Given the description of an element on the screen output the (x, y) to click on. 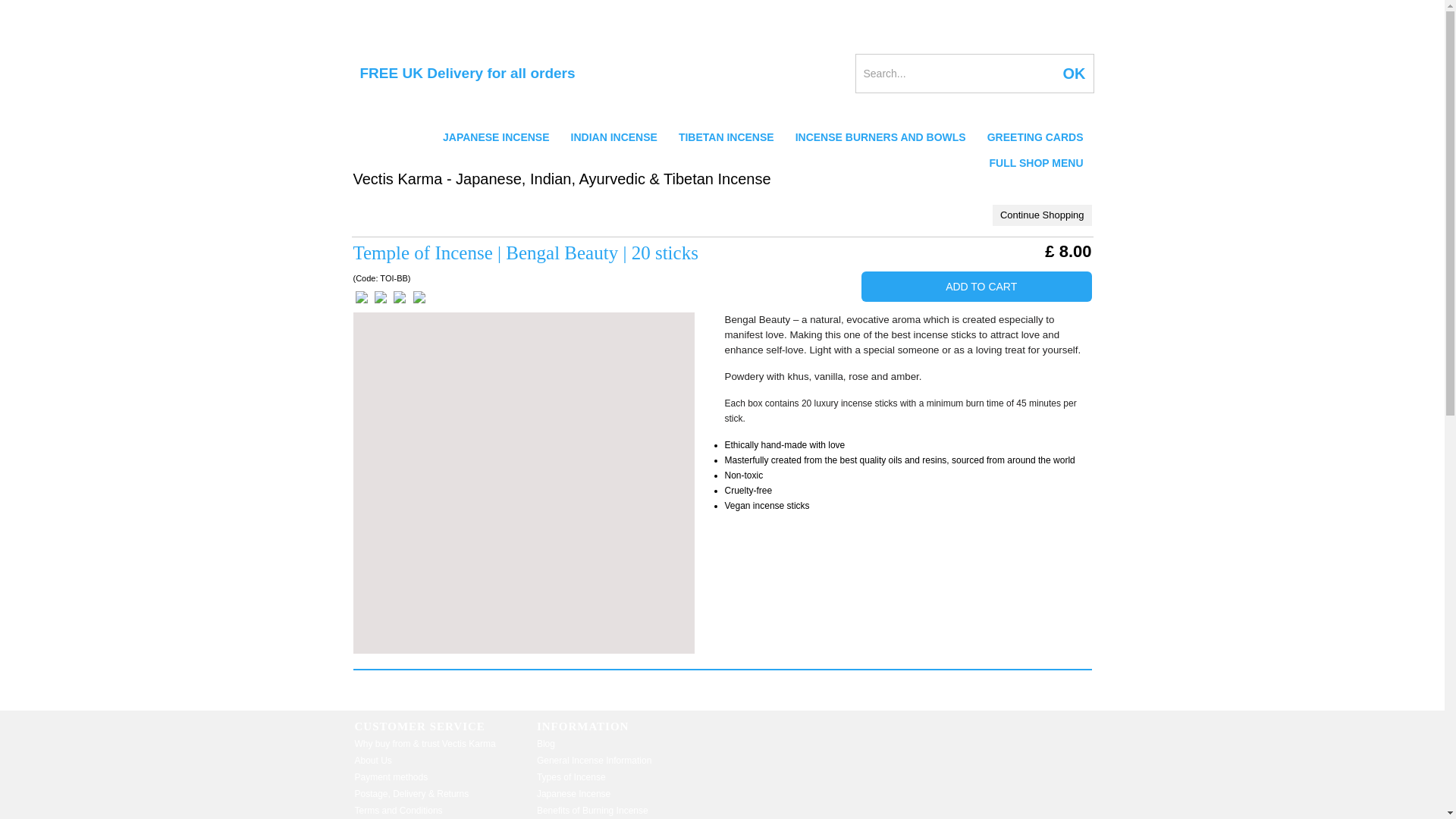
Continue Shopping (1042, 215)
About Us (553, 11)
Search... (955, 73)
FULL SHOP MENU (1036, 162)
Blog (602, 11)
GREETING CARDS (1035, 136)
Our Suppliers (485, 11)
INCENSE BURNERS AND BOWLS (880, 136)
Your cart (1027, 11)
FREE UK Delivery for all orders (462, 73)
TIBETAN INCENSE (726, 136)
INDIAN INCENSE (614, 136)
Account (986, 11)
JAPANESE INCENSE (496, 136)
Incense Information (393, 11)
